Given the description of an element on the screen output the (x, y) to click on. 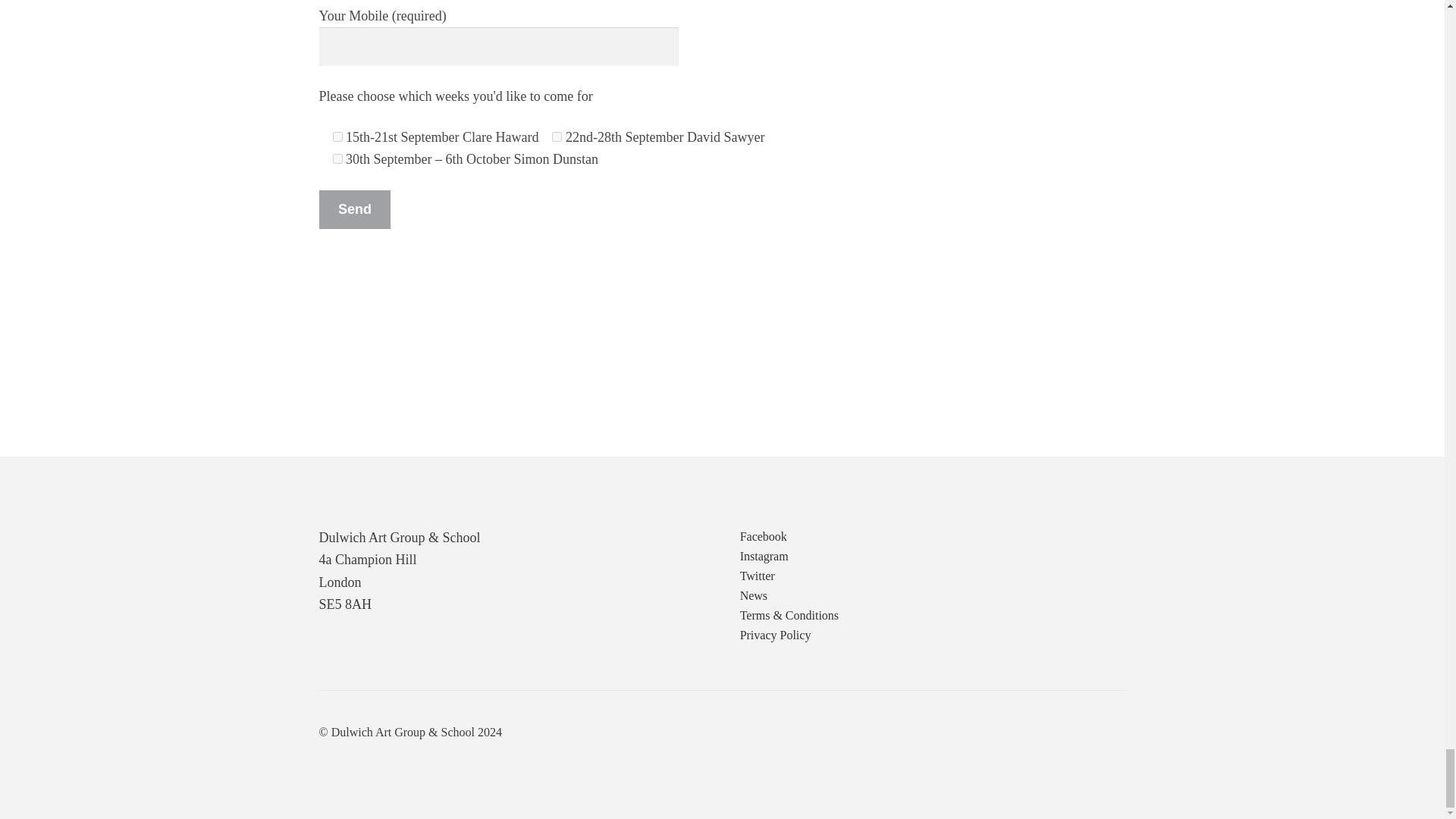
Send (354, 209)
22nd-28th September David Sawyer (556, 136)
15th-21st September Clare Haward (337, 136)
